Given the description of an element on the screen output the (x, y) to click on. 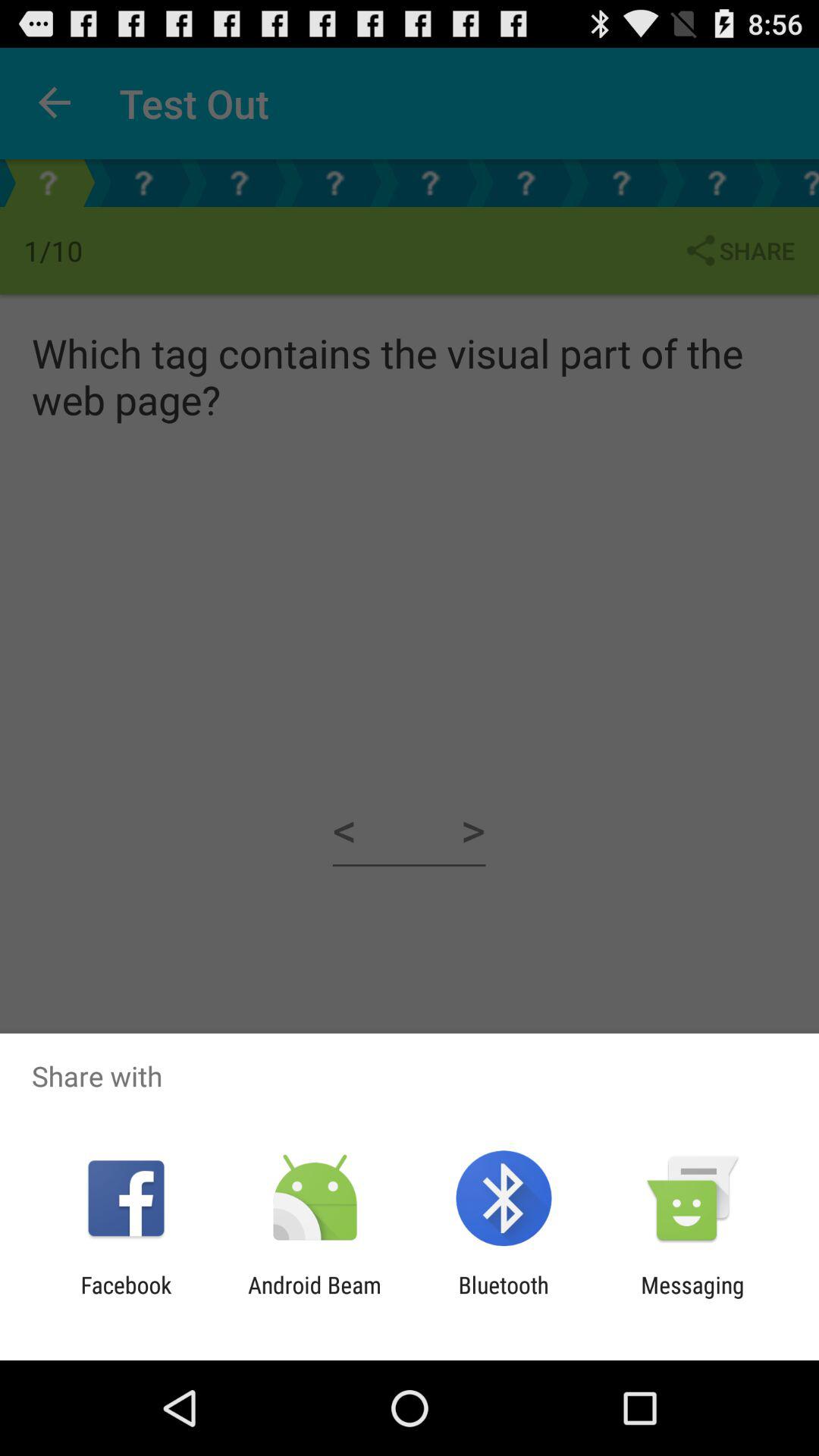
press the icon next to android beam app (503, 1298)
